Given the description of an element on the screen output the (x, y) to click on. 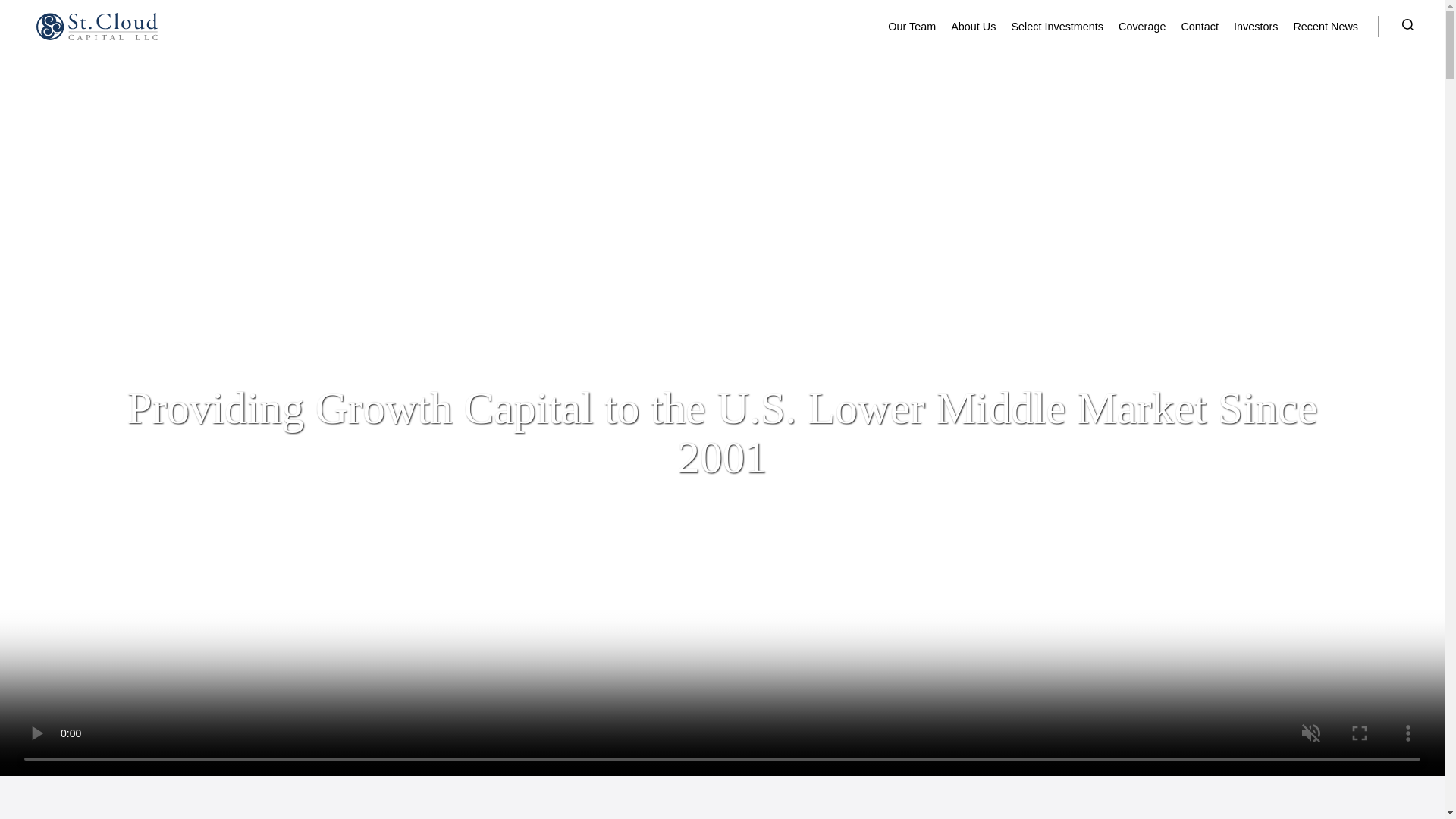
About Us (973, 26)
Our Team (911, 26)
Investors (1255, 26)
Recent News (1325, 26)
Select Investments (1056, 26)
Search (1393, 26)
Coverage (1141, 26)
Contact (1199, 26)
